Given the description of an element on the screen output the (x, y) to click on. 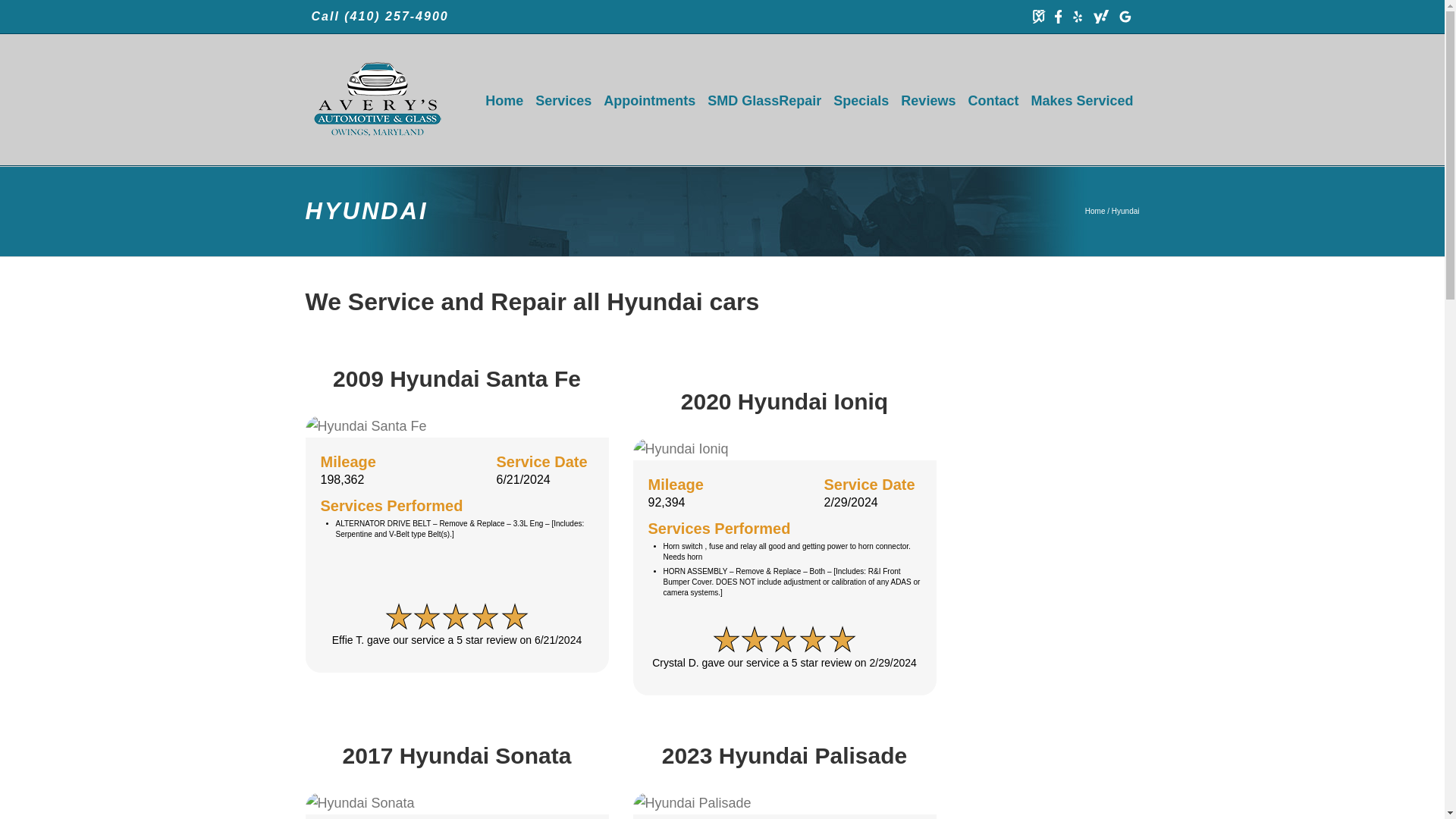
SureCritic (1038, 16)
Yahoo (1100, 16)
Yelp (1077, 16)
SMD GlassRepair (764, 100)
